Given the description of an element on the screen output the (x, y) to click on. 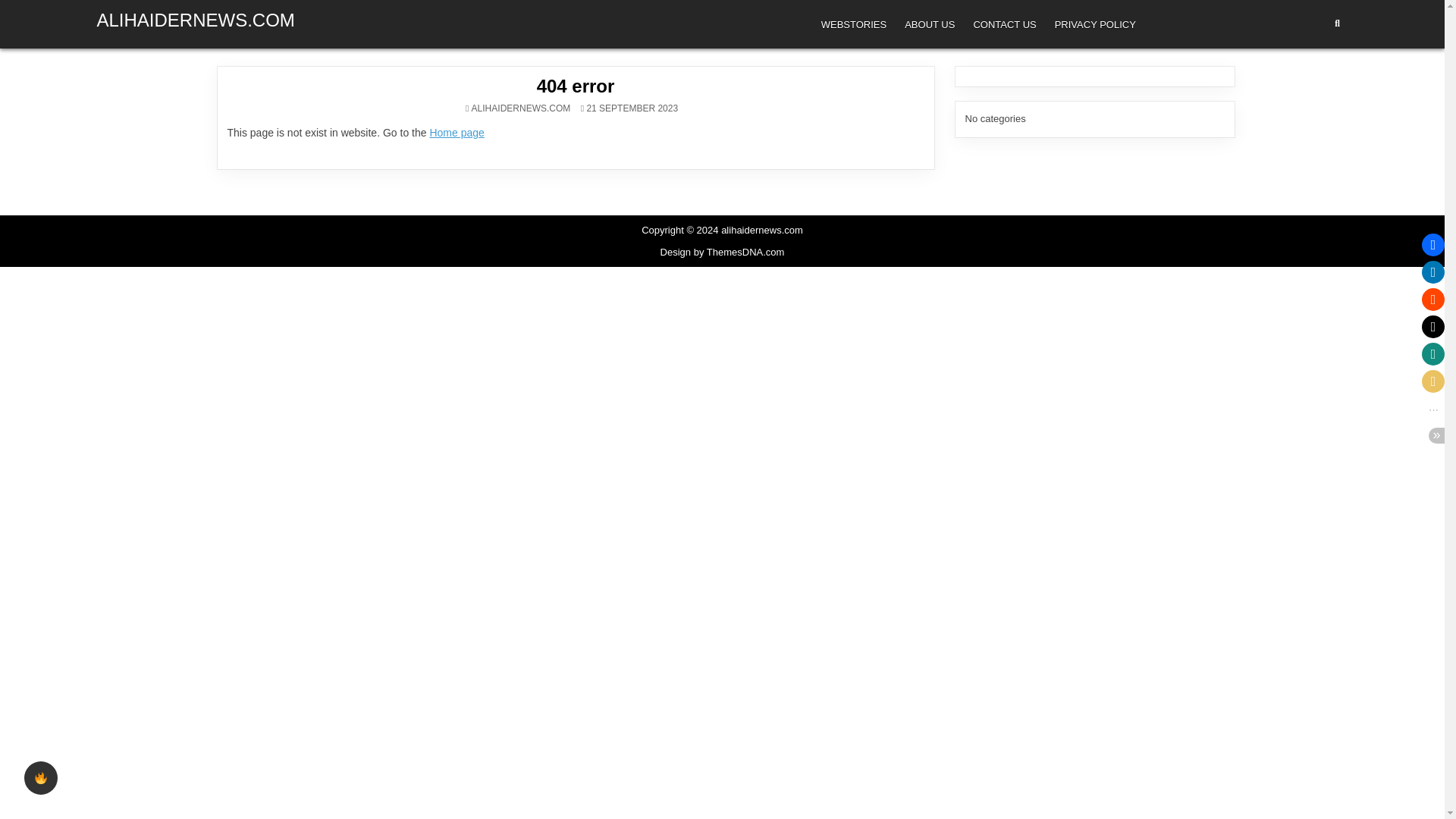
404 error (575, 86)
ABOUT US (929, 24)
ALIHAIDERNEWS.COM (196, 19)
PRIVACY POLICY (1094, 24)
CONTACT US (1004, 24)
Home page (456, 132)
ALIHAIDERNEWS.COM (520, 108)
WEBSTORIES (853, 24)
Design by ThemesDNA.com (722, 251)
